Given the description of an element on the screen output the (x, y) to click on. 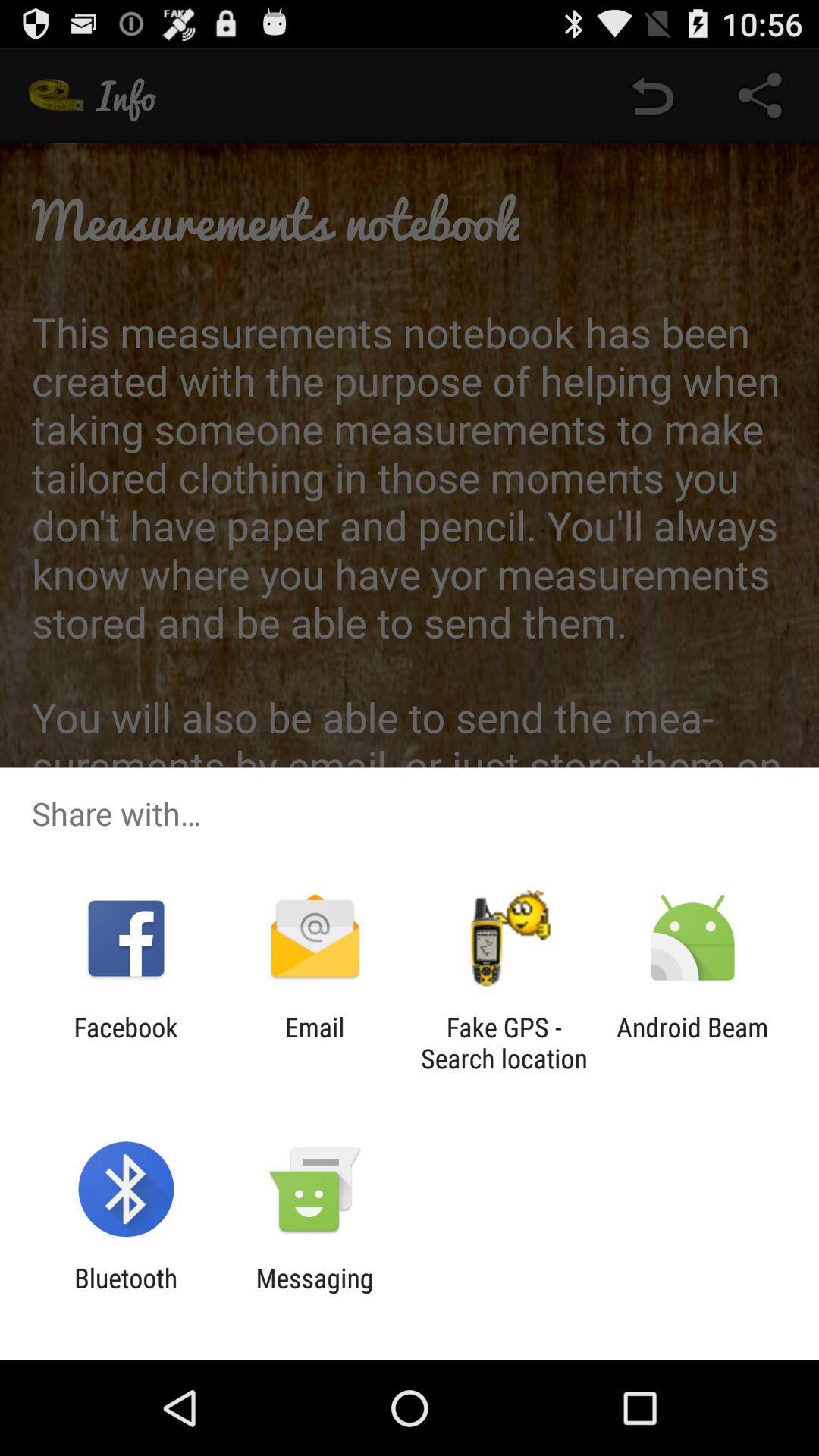
jump to the bluetooth (125, 1293)
